Given the description of an element on the screen output the (x, y) to click on. 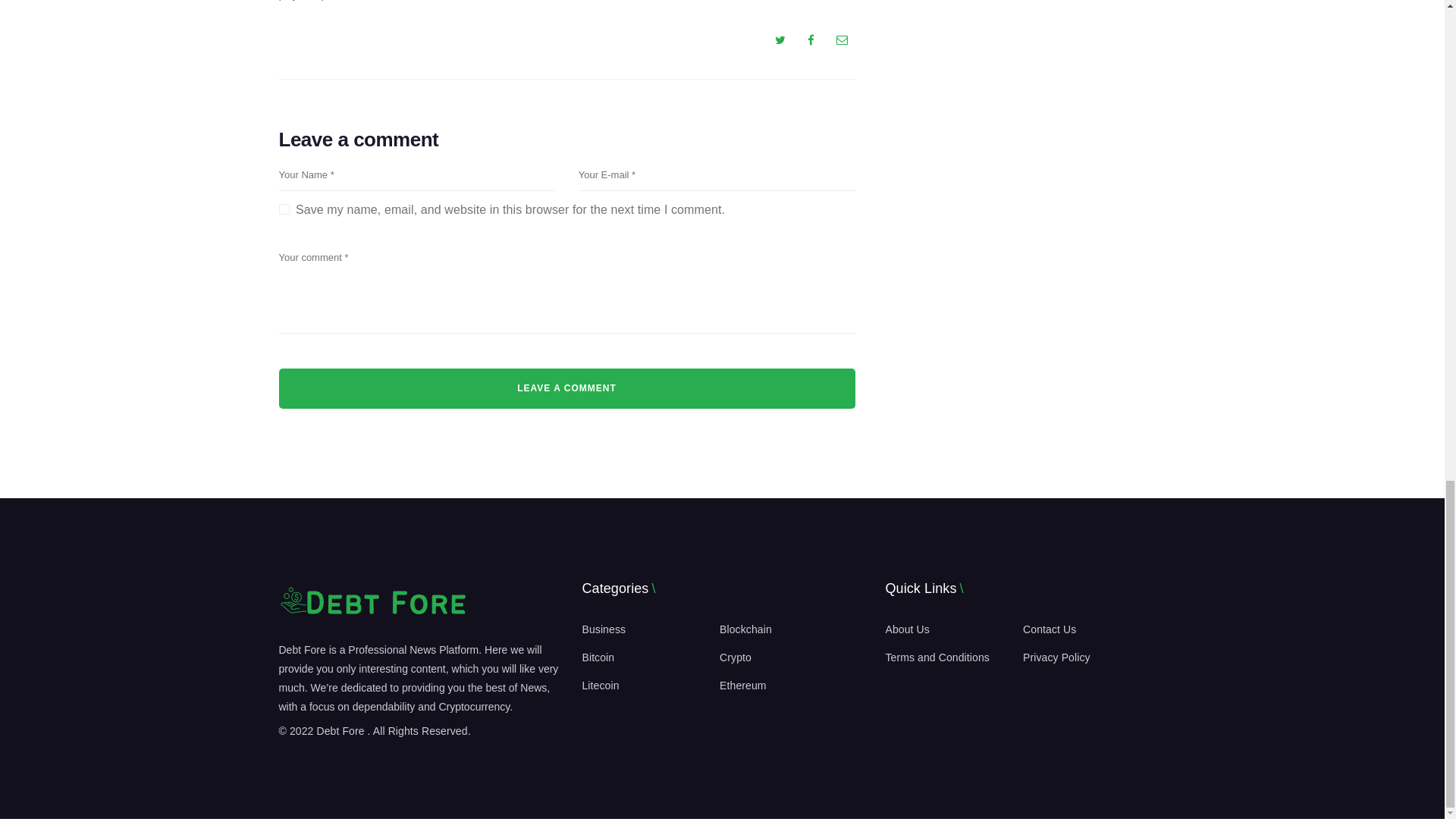
Leave a comment (567, 388)
